Given the description of an element on the screen output the (x, y) to click on. 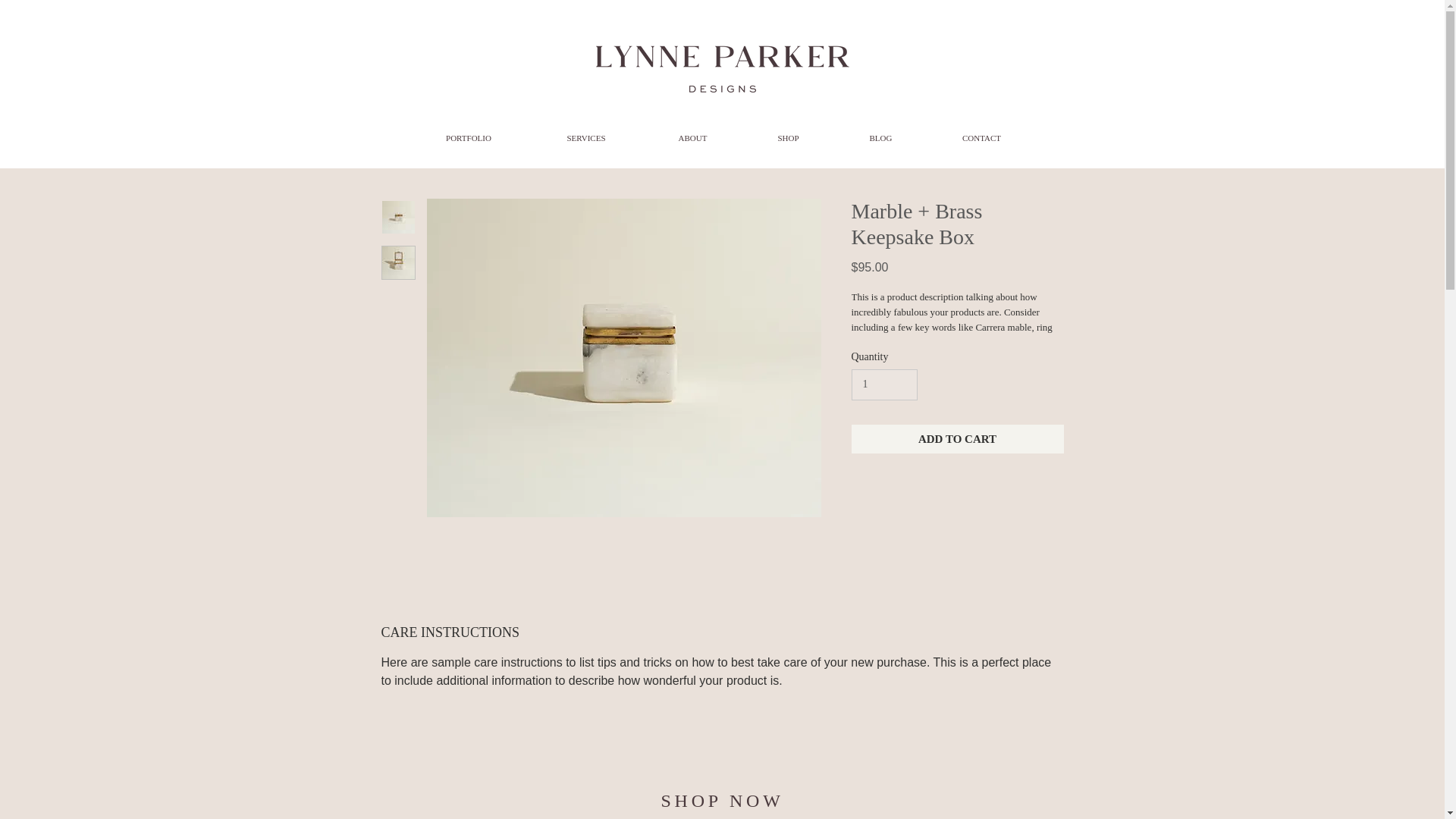
SERVICES (586, 138)
PORTFOLIO (467, 138)
SHOP (787, 138)
CONTACT (980, 138)
1 (883, 384)
ADD TO CART (956, 439)
ABOUT (692, 138)
BLOG (880, 138)
